Given the description of an element on the screen output the (x, y) to click on. 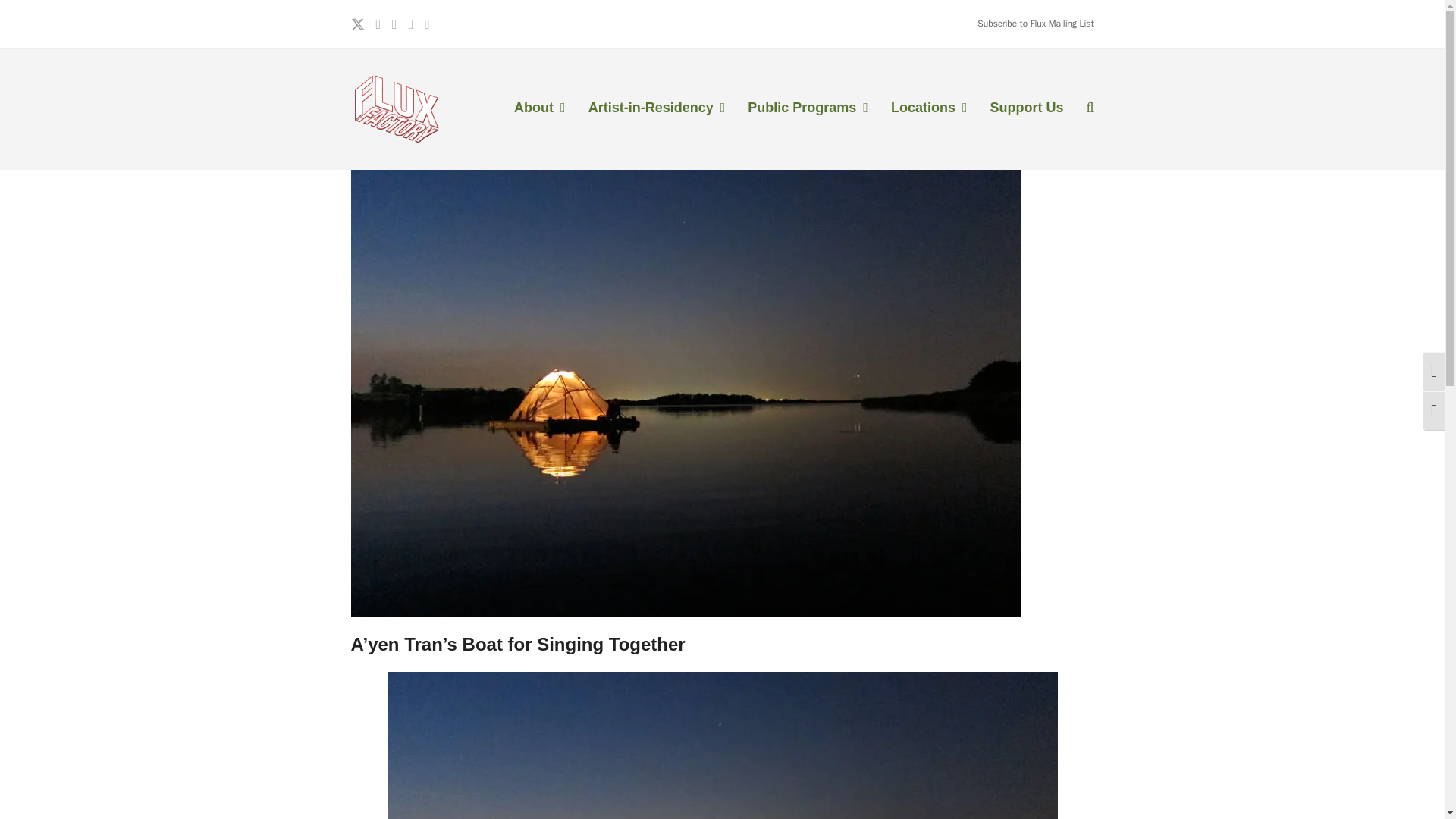
a'yen tran web (722, 745)
Public Programs (807, 108)
Artist-in-Residency (656, 108)
Locations (928, 108)
Support Us (1026, 108)
About (539, 108)
Subscribe to Flux Mailing List (1034, 23)
